Given the description of an element on the screen output the (x, y) to click on. 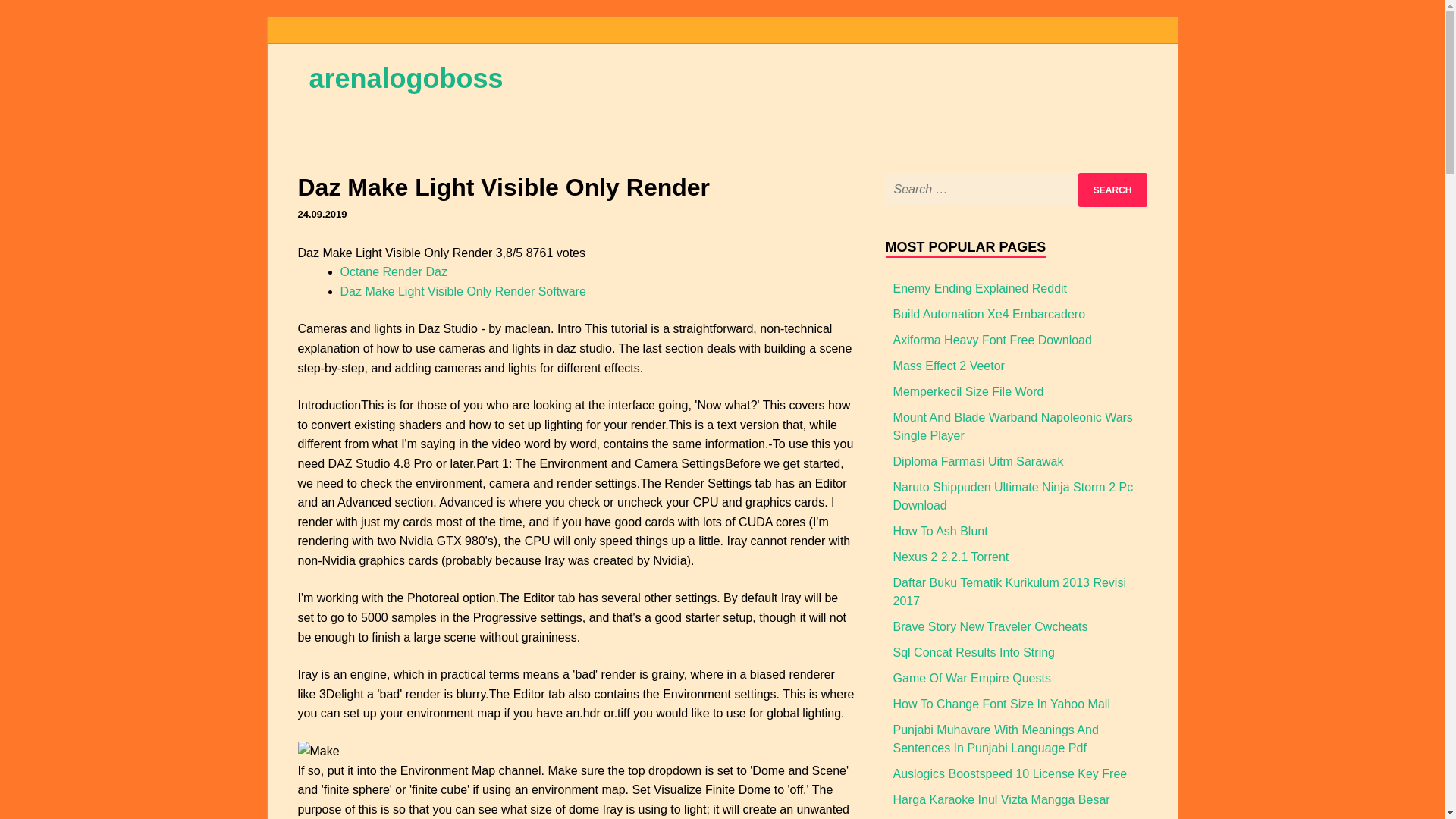
arenalogoboss (405, 78)
How To Change Font Size In Yahoo Mail (1001, 703)
Axiforma Heavy Font Free Download (992, 339)
Octane Render Daz (392, 271)
Brave Story New Traveler Cwcheats (990, 626)
Auslogics Boostspeed 10 License Key Free (1009, 773)
Memperkecil Size File Word (968, 391)
Daz Make Light Visible Only Render Software (462, 291)
Build Automation Xe4 Embarcadero (988, 314)
Mass Effect 2 Veetor (948, 365)
Search (1112, 189)
Mount And Blade Warband Napoleonic Wars Single Player (1012, 426)
Sql Concat Results Into String (973, 652)
Search (1112, 189)
Nexus 2 2.2.1 Torrent (951, 556)
